Given the description of an element on the screen output the (x, y) to click on. 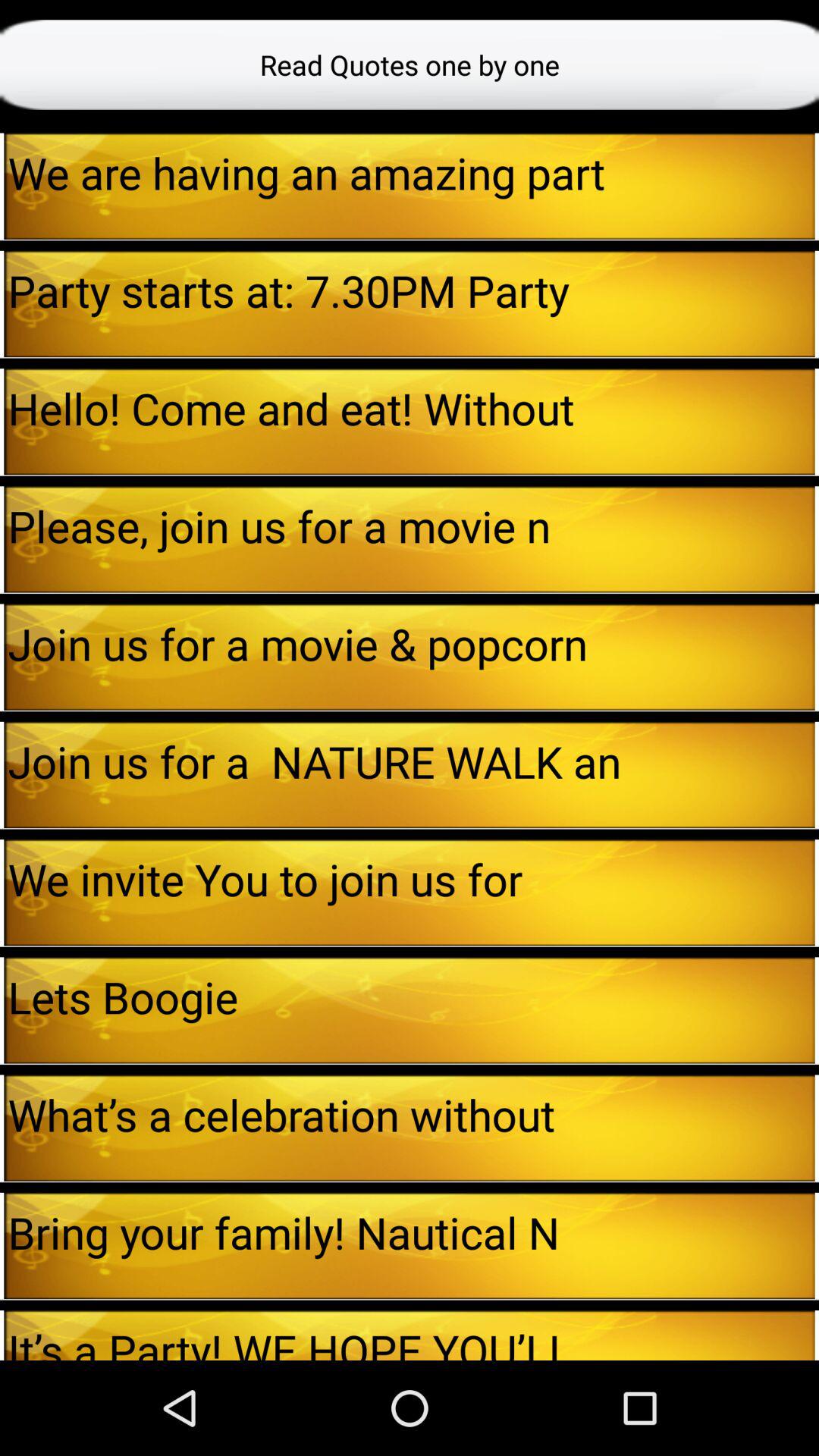
click the icon next to the we are having app (817, 186)
